Given the description of an element on the screen output the (x, y) to click on. 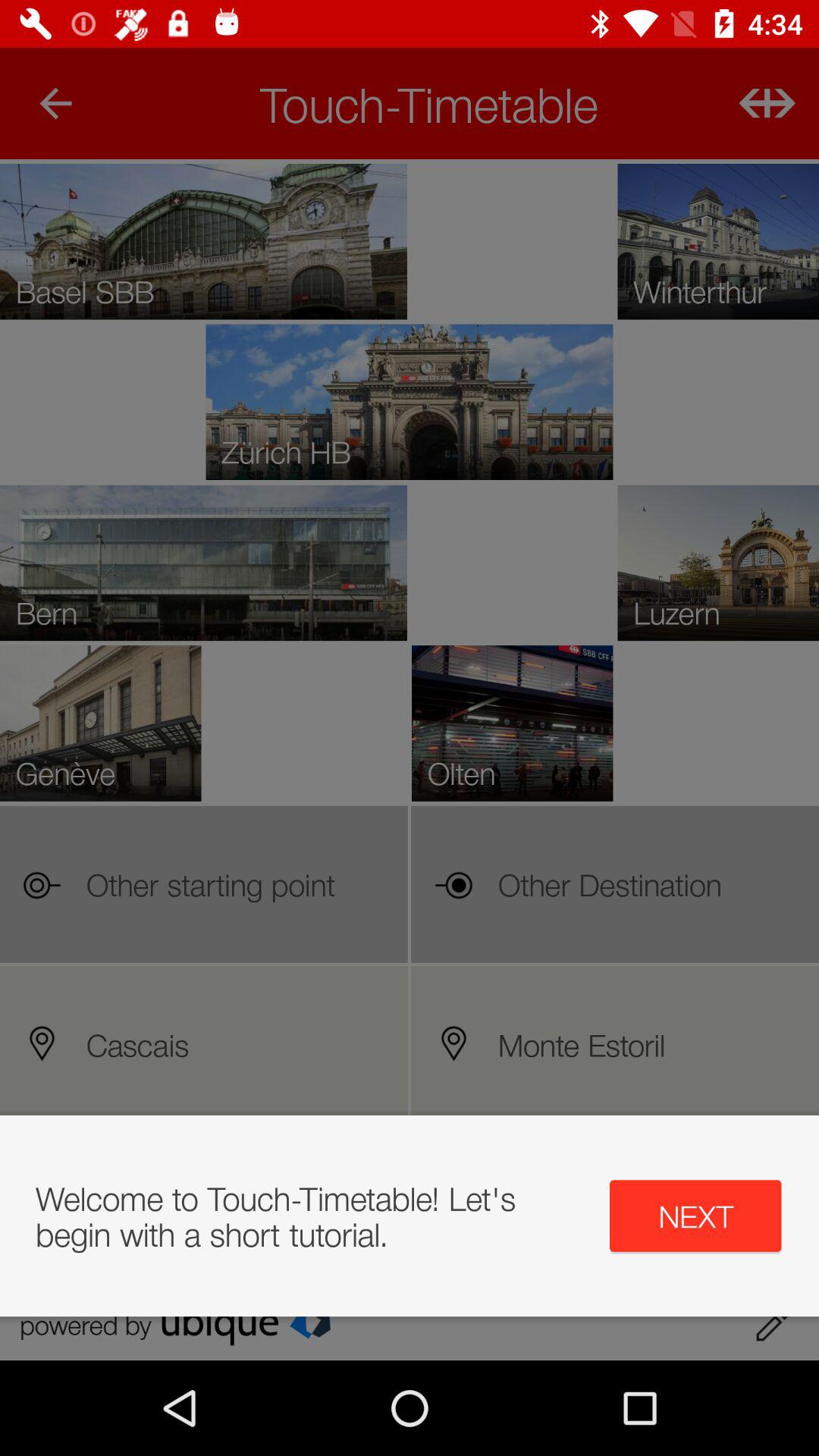
choose the icon next to welcome to touch app (695, 1215)
